Given the description of an element on the screen output the (x, y) to click on. 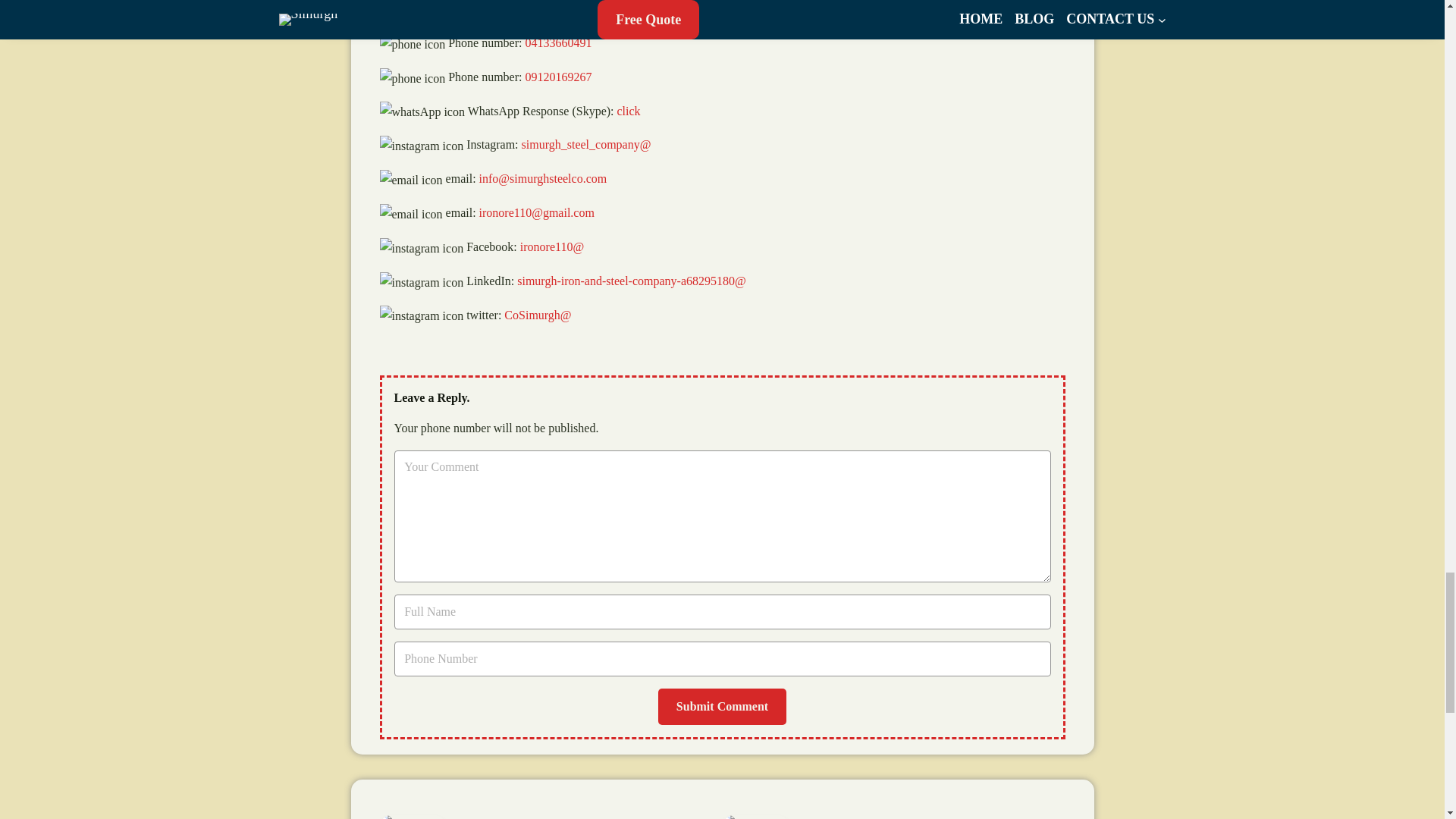
Submit Comment (722, 706)
Steel sheet stainless products thickness (900, 816)
Copper cathode production and suppliers in global (589, 816)
04133660491 (557, 42)
02147623014 (557, 8)
09120169267 (557, 77)
click (628, 110)
Submit Comment (722, 706)
